Given the description of an element on the screen output the (x, y) to click on. 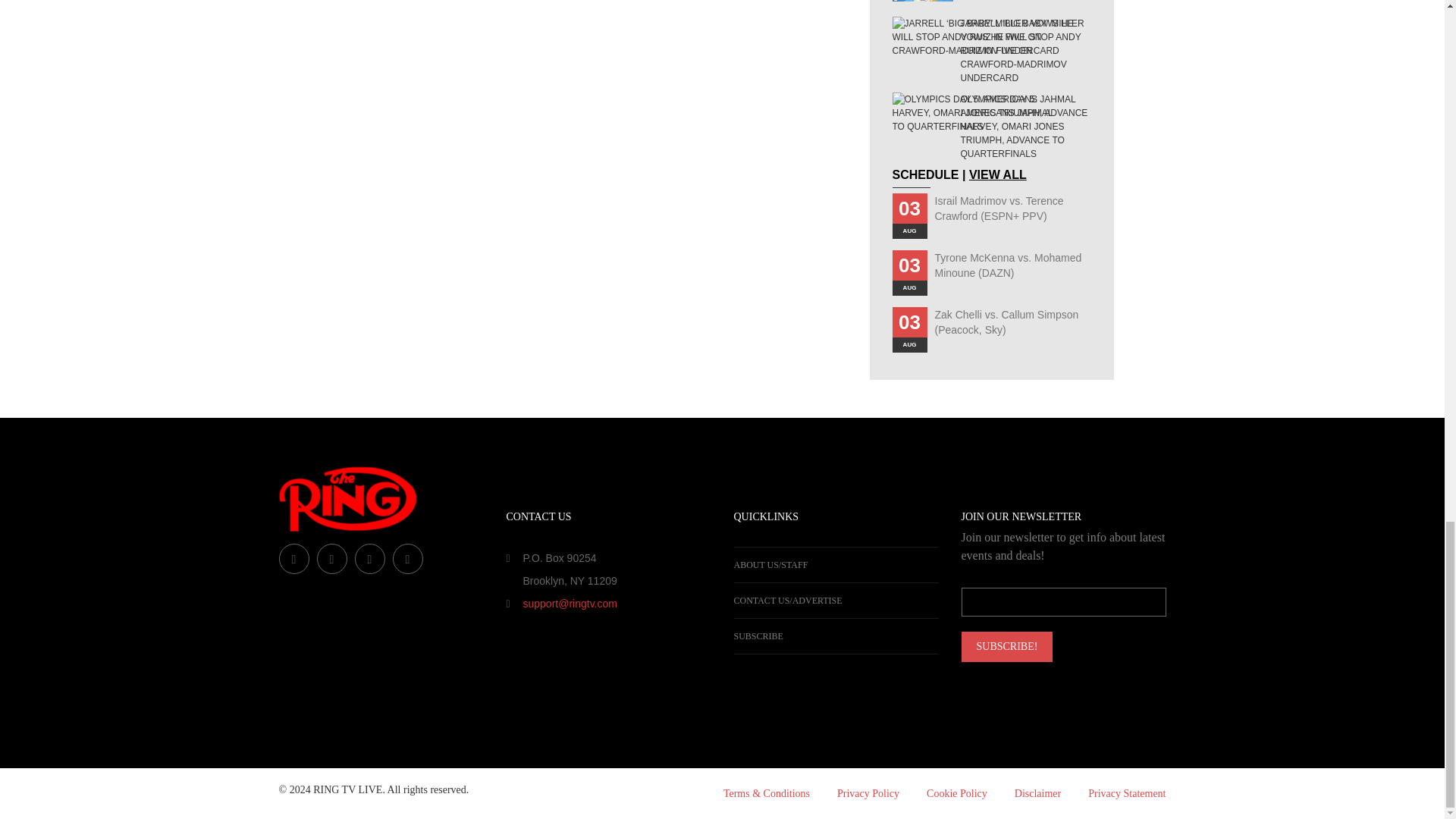
Email (1063, 602)
Subscribe! (1006, 646)
